Given the description of an element on the screen output the (x, y) to click on. 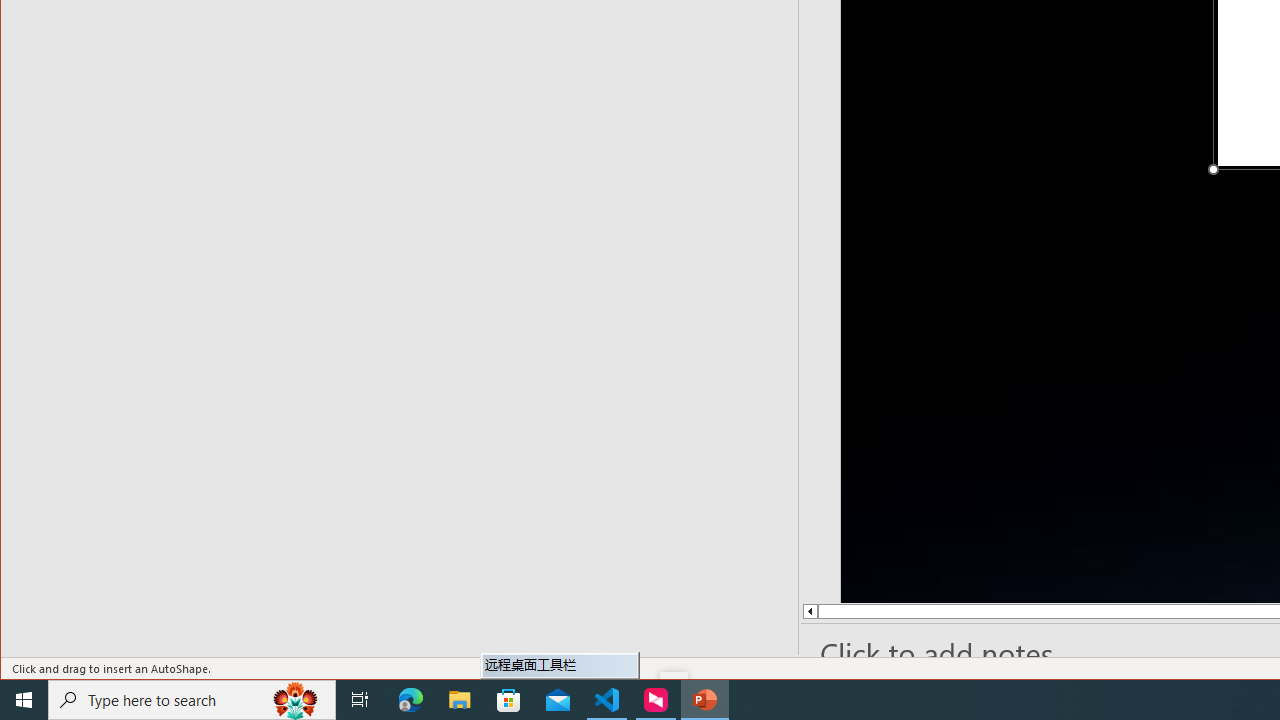
Start (24, 699)
Type here to search (191, 699)
File Explorer (460, 699)
Task View (359, 699)
Visual Studio Code - 1 running window (607, 699)
Microsoft Edge (411, 699)
Search highlights icon opens search home window (295, 699)
PowerPoint - 1 running window (704, 699)
Microsoft Store (509, 699)
